Given the description of an element on the screen output the (x, y) to click on. 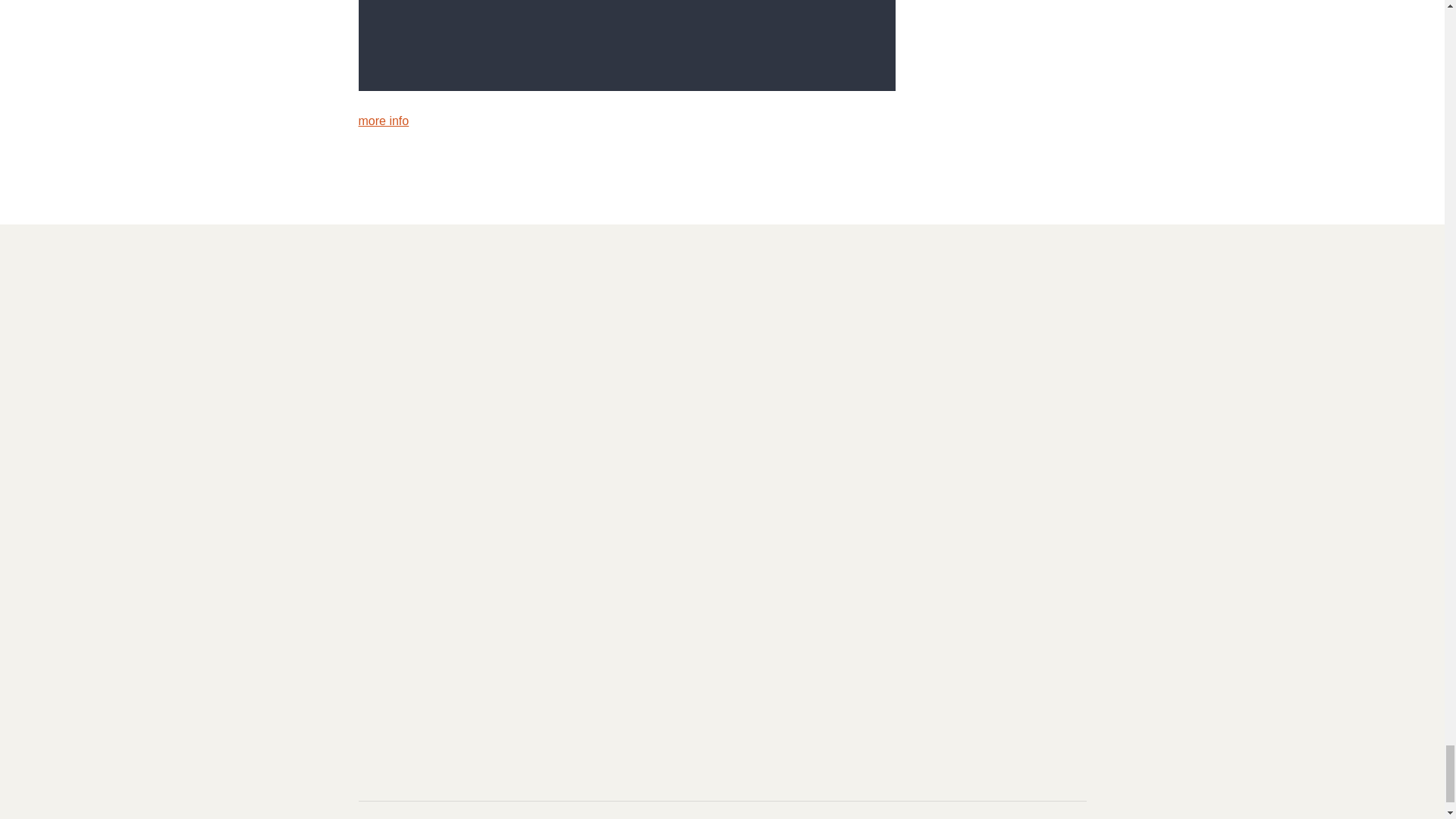
more info (383, 120)
